Given the description of an element on the screen output the (x, y) to click on. 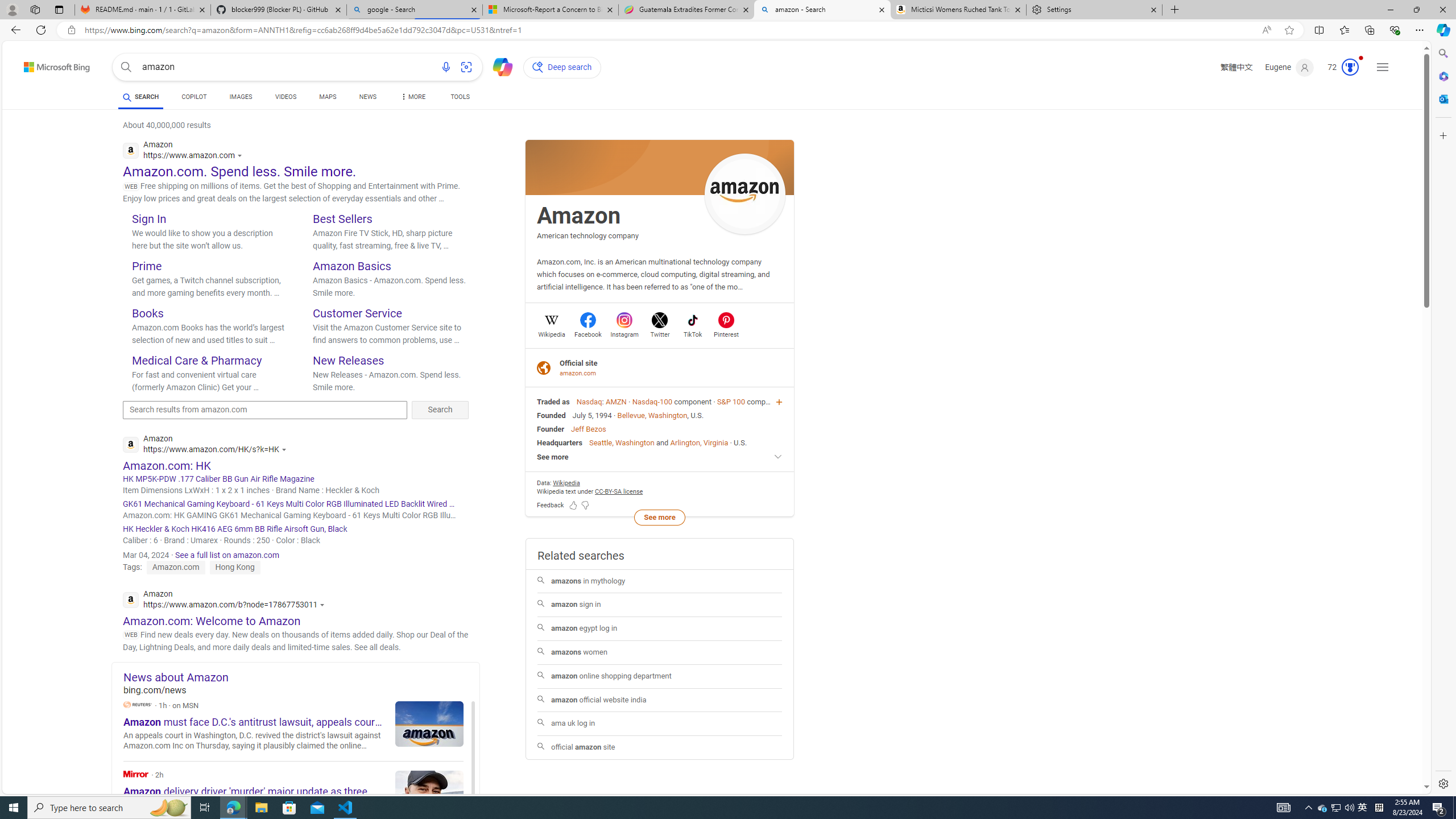
Official siteamazon.com (660, 367)
Arlington, Virginia (698, 442)
Feedback Dislike (584, 504)
Bellevue, Washington (652, 415)
Twitter (660, 333)
Customer Service (357, 313)
MAPS (327, 98)
Nasdaq-100 (651, 401)
Amazon (579, 215)
